Given the description of an element on the screen output the (x, y) to click on. 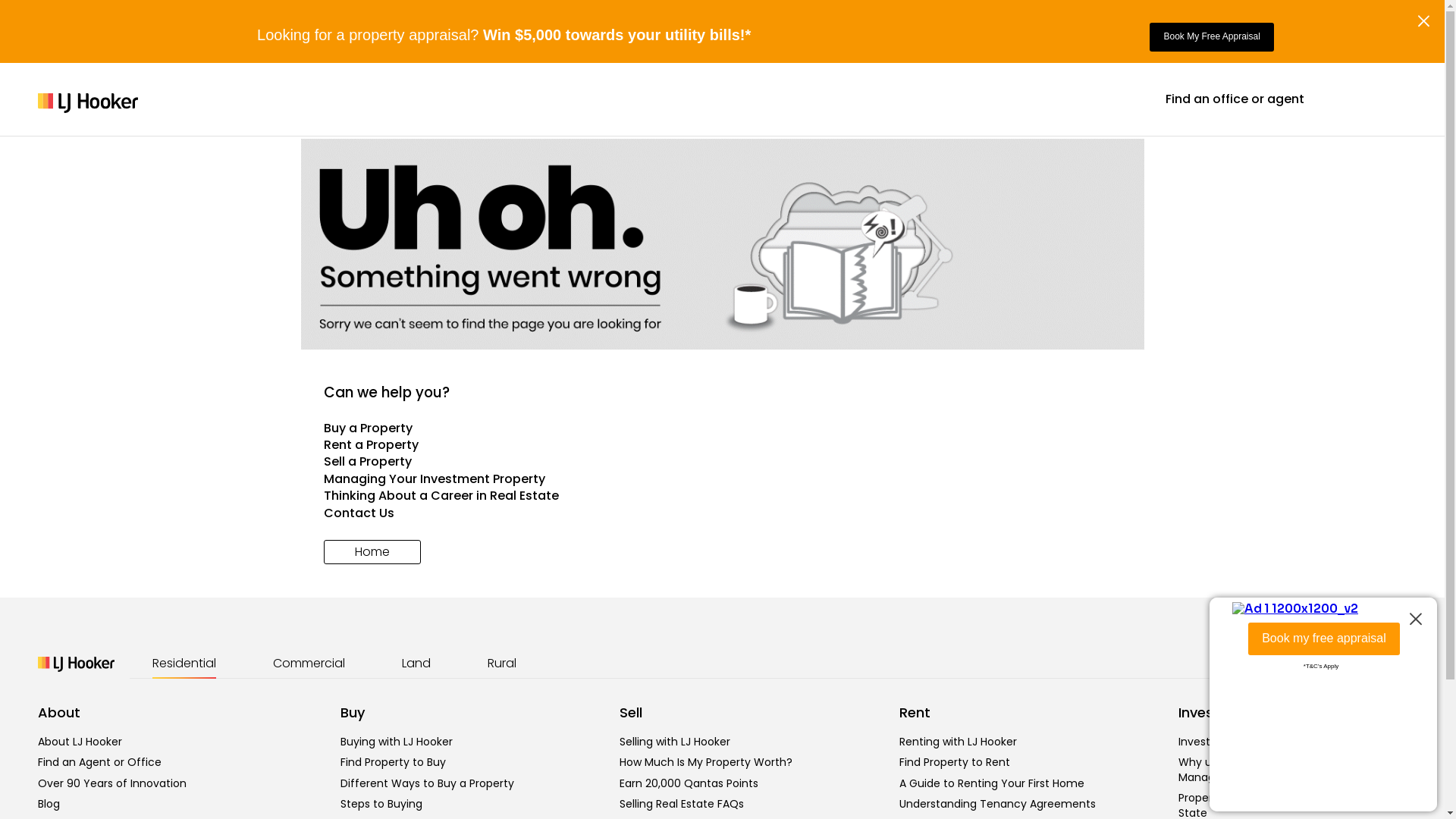
A Guide to Renting Your First Home Element type: text (991, 782)
Managing Your Investment Property Element type: text (721, 478)
Earn 20,000 Qantas Points Element type: text (688, 782)
Renting with LJ Hooker Element type: text (957, 741)
Commercial Element type: text (309, 663)
Rent a Property Element type: text (721, 444)
Steps to Buying Element type: text (381, 803)
Buy Element type: text (352, 711)
Land Element type: text (415, 663)
Buying with LJ Hooker Element type: text (396, 741)
Find an office or agent Element type: text (1234, 99)
Find Property to Rent Element type: text (954, 761)
Sell a Property Element type: text (721, 461)
Selling with LJ Hooker Element type: text (674, 741)
Investing with LJ Hooker Element type: text (1240, 741)
Find Property to Buy Element type: text (392, 761)
Different Ways to Buy a Property Element type: text (427, 782)
Find an Agent or Office Element type: text (99, 761)
Why use LJ Hooker Property Management Element type: text (1251, 769)
About Element type: text (58, 711)
Rent Element type: text (914, 711)
Thinking About a Career in Real Estate Element type: text (721, 495)
Selling Real Estate FAQs Element type: text (681, 803)
Residential Element type: text (184, 663)
Over 90 Years of Innovation Element type: text (111, 782)
Understanding Tenancy Agreements Element type: text (997, 803)
Buy a Property Element type: text (721, 428)
Blog Element type: text (48, 803)
Sell Element type: text (630, 711)
Rural Element type: text (501, 663)
About LJ Hooker Element type: text (79, 741)
How Much Is My Property Worth? Element type: text (705, 761)
Invest Element type: text (1198, 711)
Home Element type: text (371, 551)
Contact Us Element type: text (721, 513)
